Given the description of an element on the screen output the (x, y) to click on. 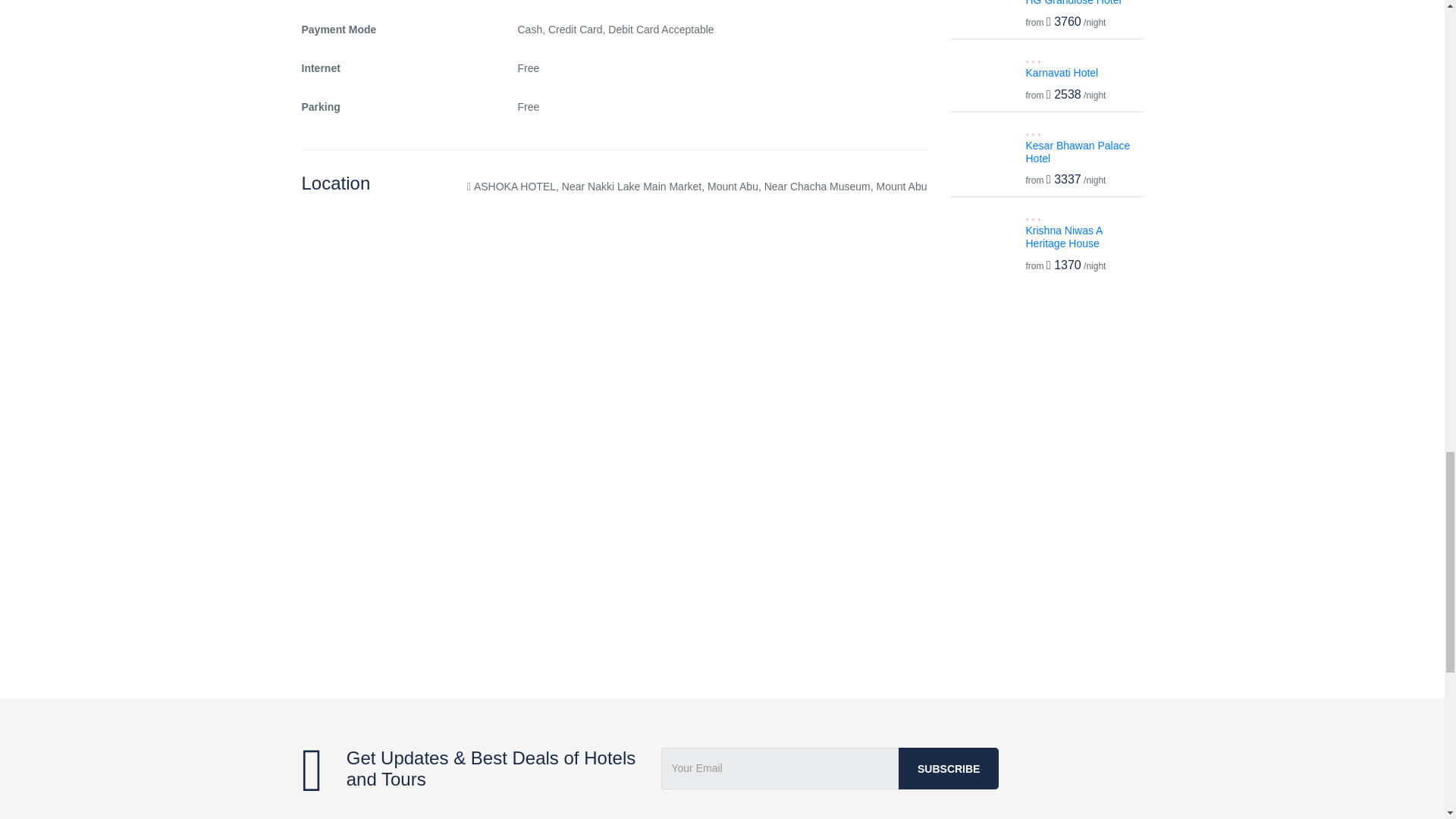
Karnavati Hotel (1061, 72)
HG Grandiose Hotel (1073, 2)
Kesar Bhawan Palace Hotel (1077, 151)
SUBSCRIBE (948, 768)
Krishna Niwas A Heritage House (1063, 236)
